Given the description of an element on the screen output the (x, y) to click on. 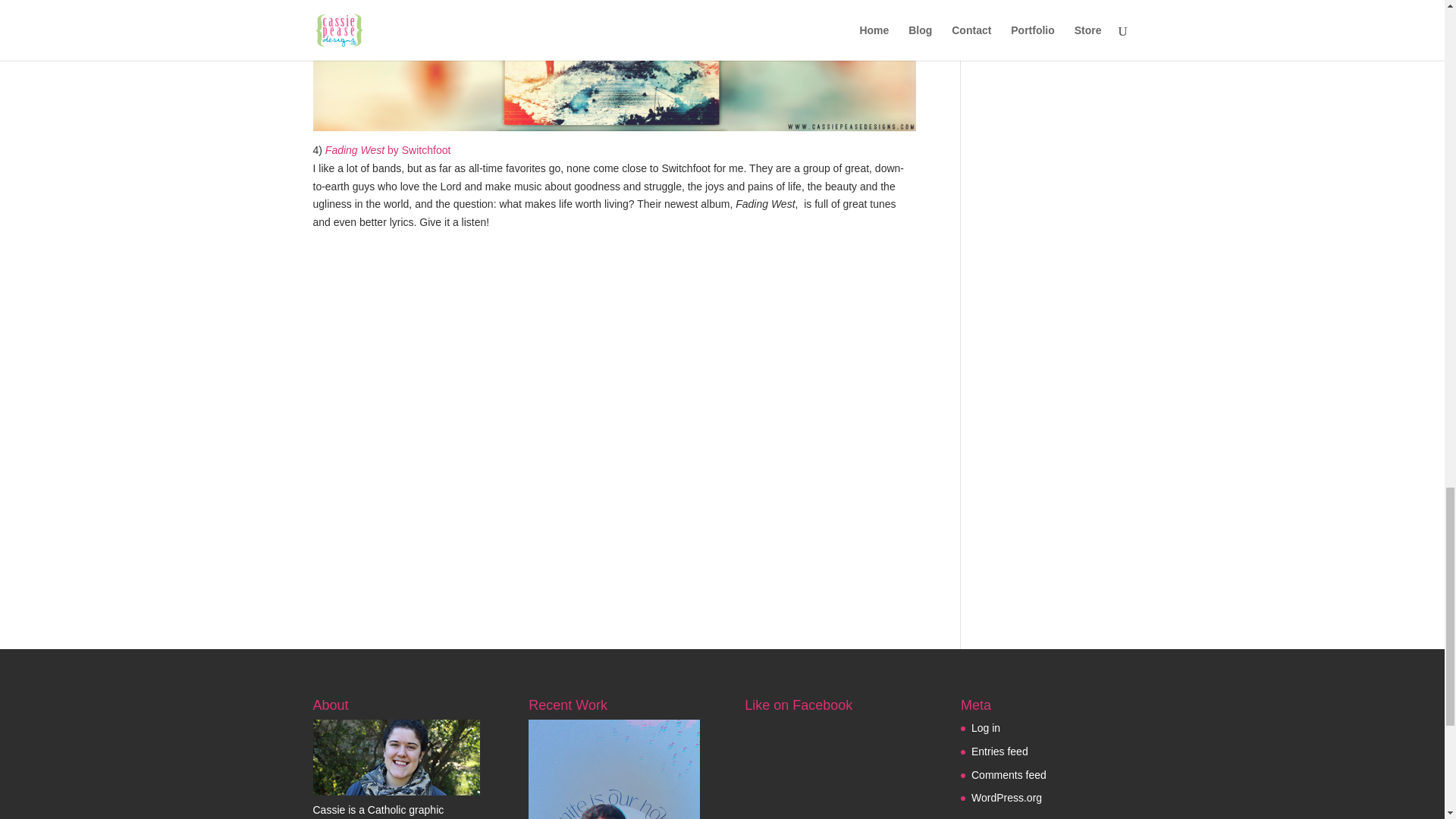
Comments feed (1008, 775)
WordPress.org (1006, 797)
Fading West by Switchfoot (387, 150)
Log in (985, 727)
Fading West by Switchfoot (387, 150)
Entries feed (999, 751)
